Given the description of an element on the screen output the (x, y) to click on. 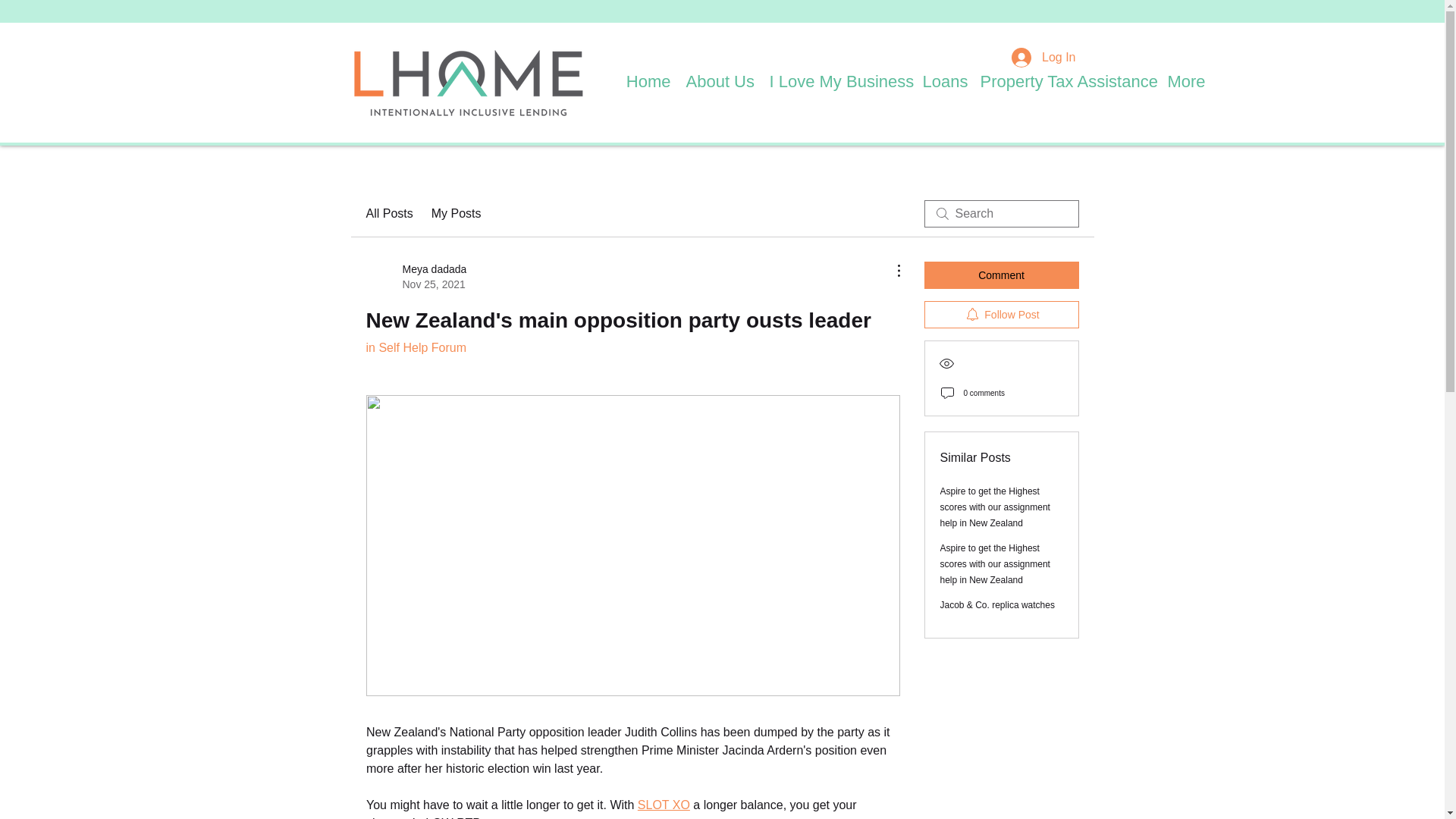
Home (647, 77)
I Love My Business (837, 77)
All Posts (388, 213)
Follow Post (1000, 314)
Loans (943, 77)
My Posts (455, 213)
in Self Help Forum (415, 347)
SLOT XO (662, 804)
